Given the description of an element on the screen output the (x, y) to click on. 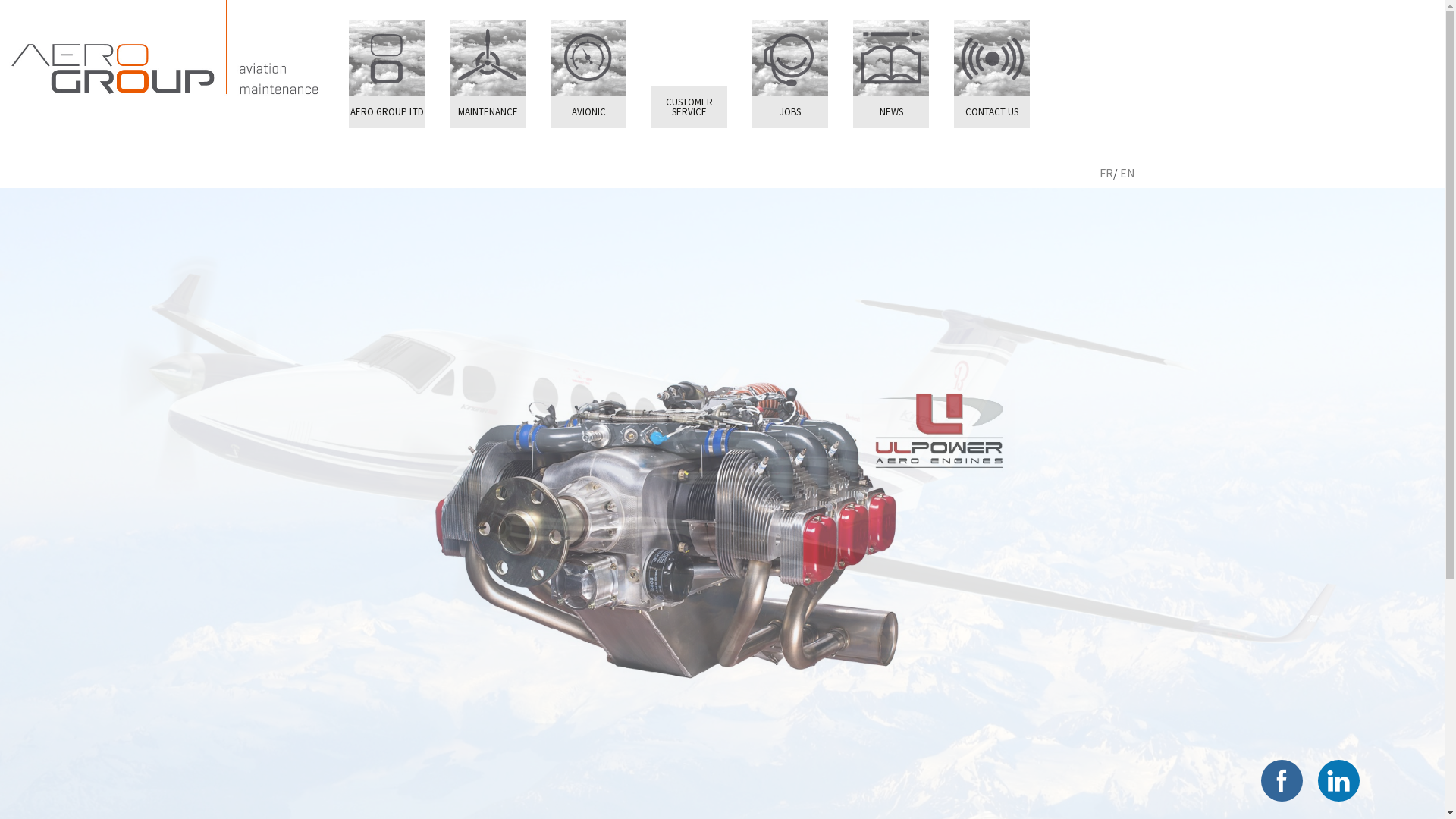
AERO GROUP LTD Element type: text (386, 111)
JOBS Element type: text (790, 111)
EN Element type: text (1127, 172)
LinkedIn Element type: hover (1338, 779)
FR Element type: text (1106, 172)
AVIONIC Element type: text (588, 111)
CONTACT US Element type: text (991, 111)
NEWS Element type: text (890, 111)
Facebook Element type: hover (1281, 779)
CUSTOMER SERVICE Element type: text (689, 106)
MAINTENANCE Element type: text (487, 111)
